Given the description of an element on the screen output the (x, y) to click on. 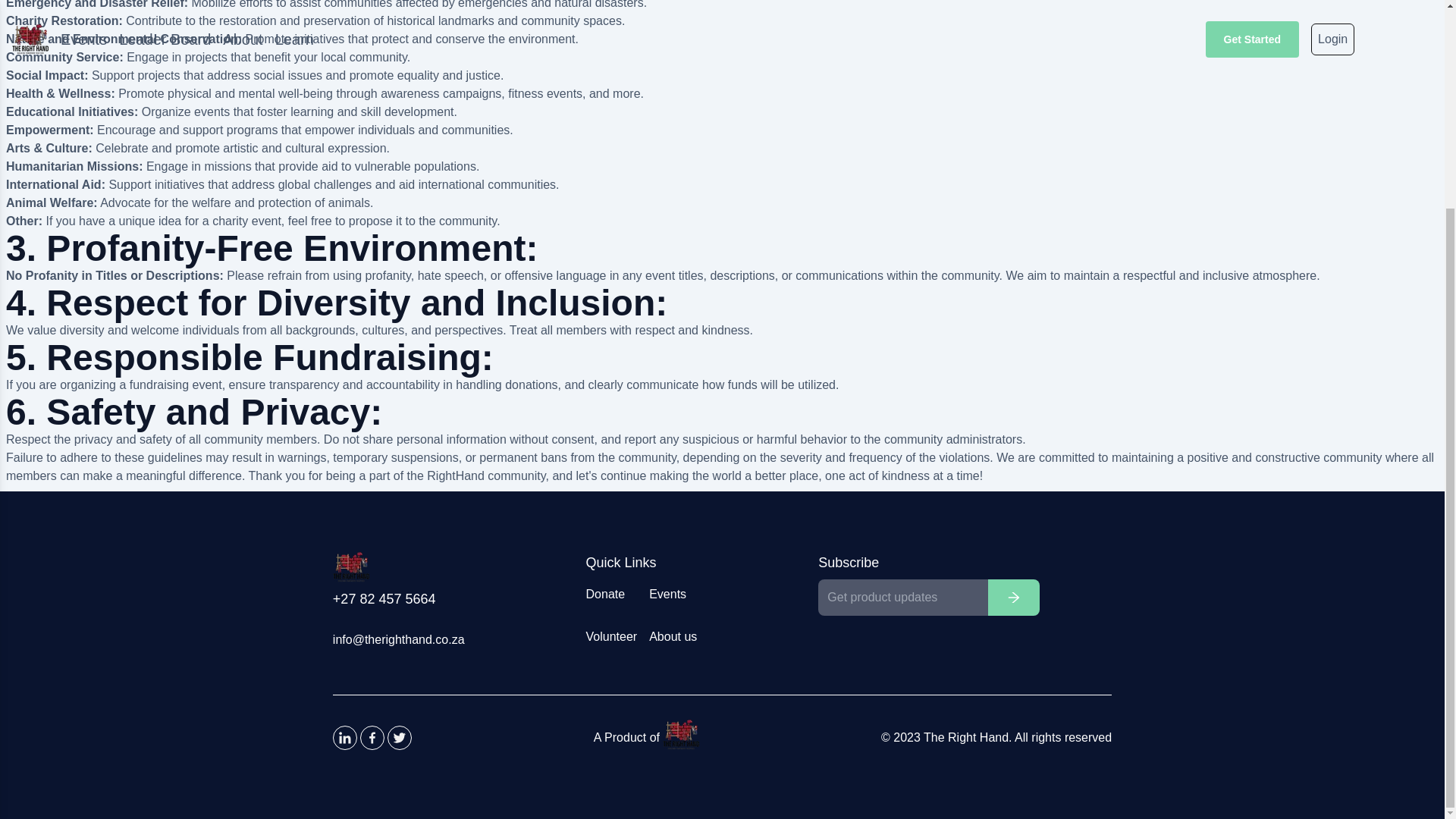
Donate (611, 594)
Events (673, 594)
Volunteer (611, 637)
About us (673, 637)
